Given the description of an element on the screen output the (x, y) to click on. 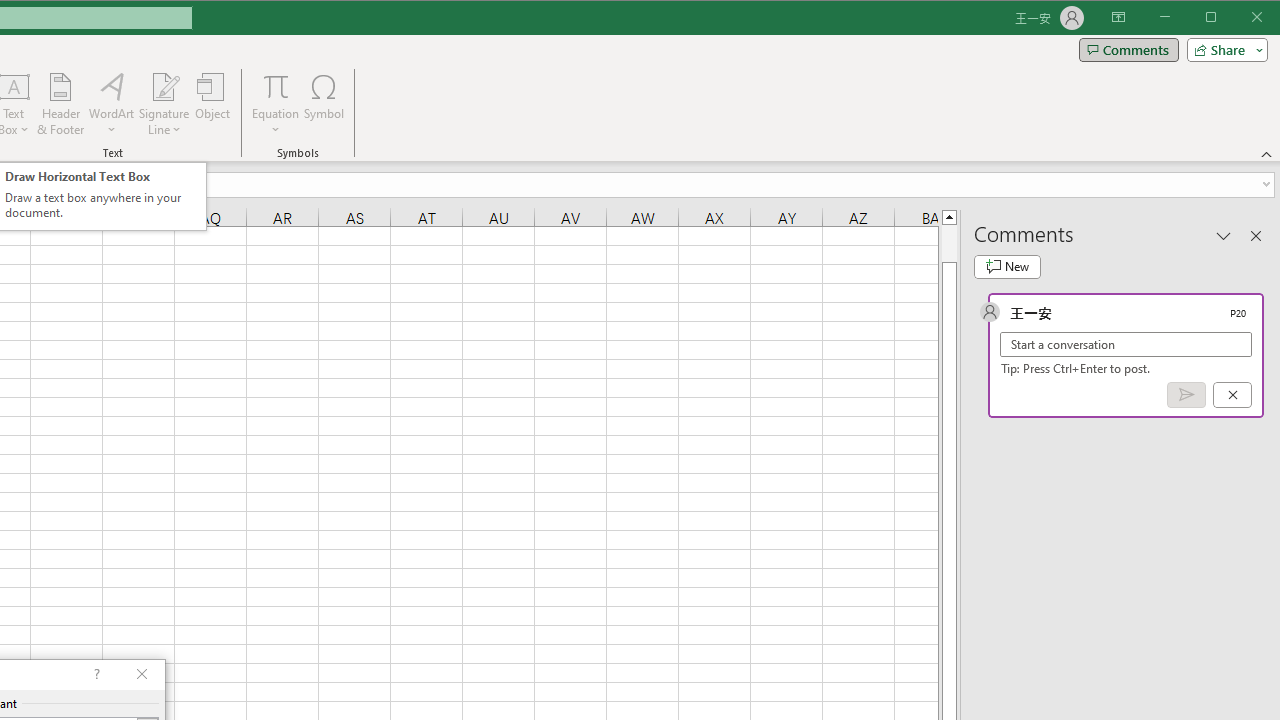
Page up (948, 243)
Task Pane Options (1224, 235)
Start a conversation (1126, 344)
WordArt (111, 104)
Header & Footer... (60, 104)
Equation (275, 104)
Close pane (1256, 235)
